Given the description of an element on the screen output the (x, y) to click on. 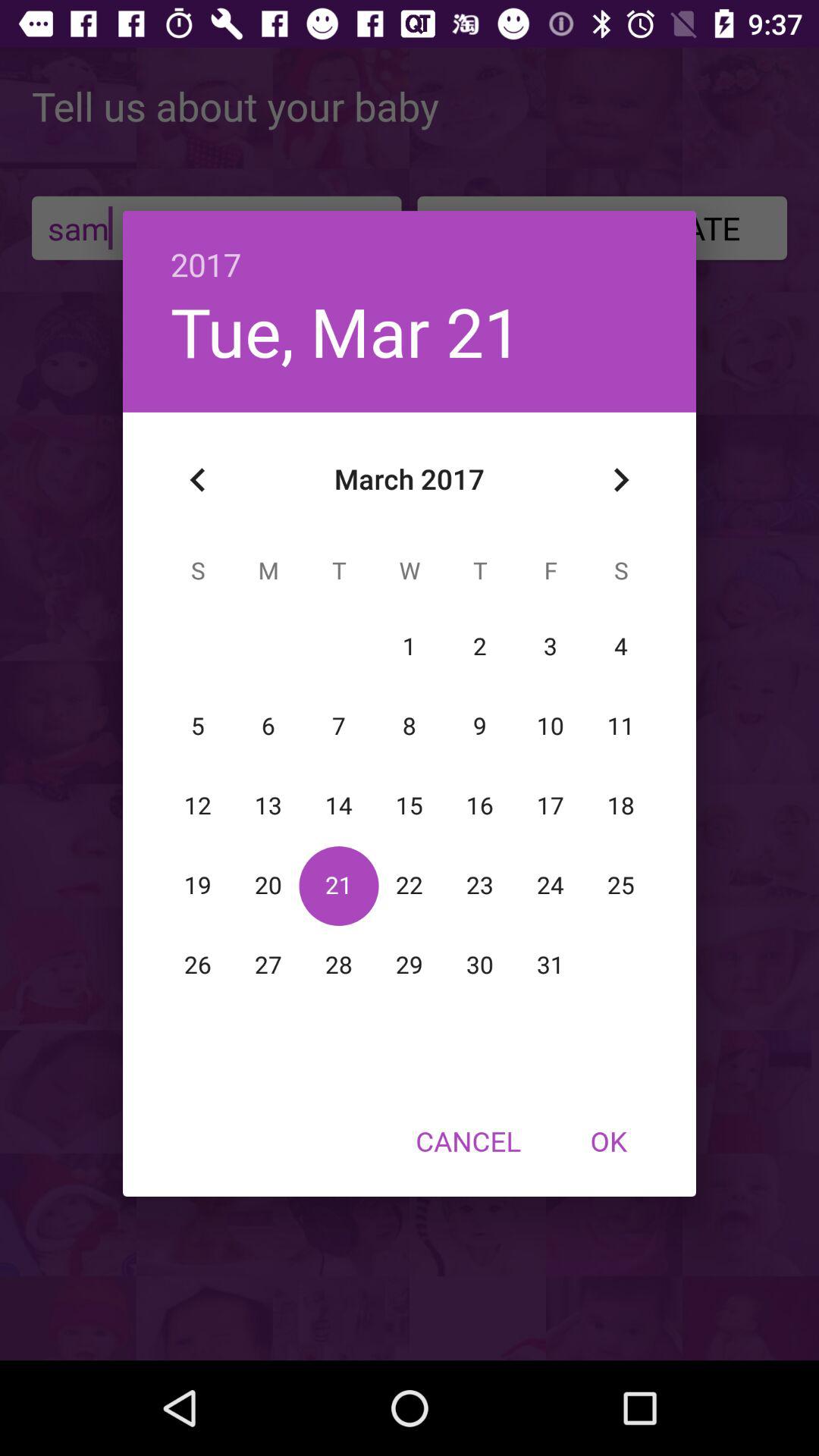
select the icon next to ok item (467, 1140)
